Given the description of an element on the screen output the (x, y) to click on. 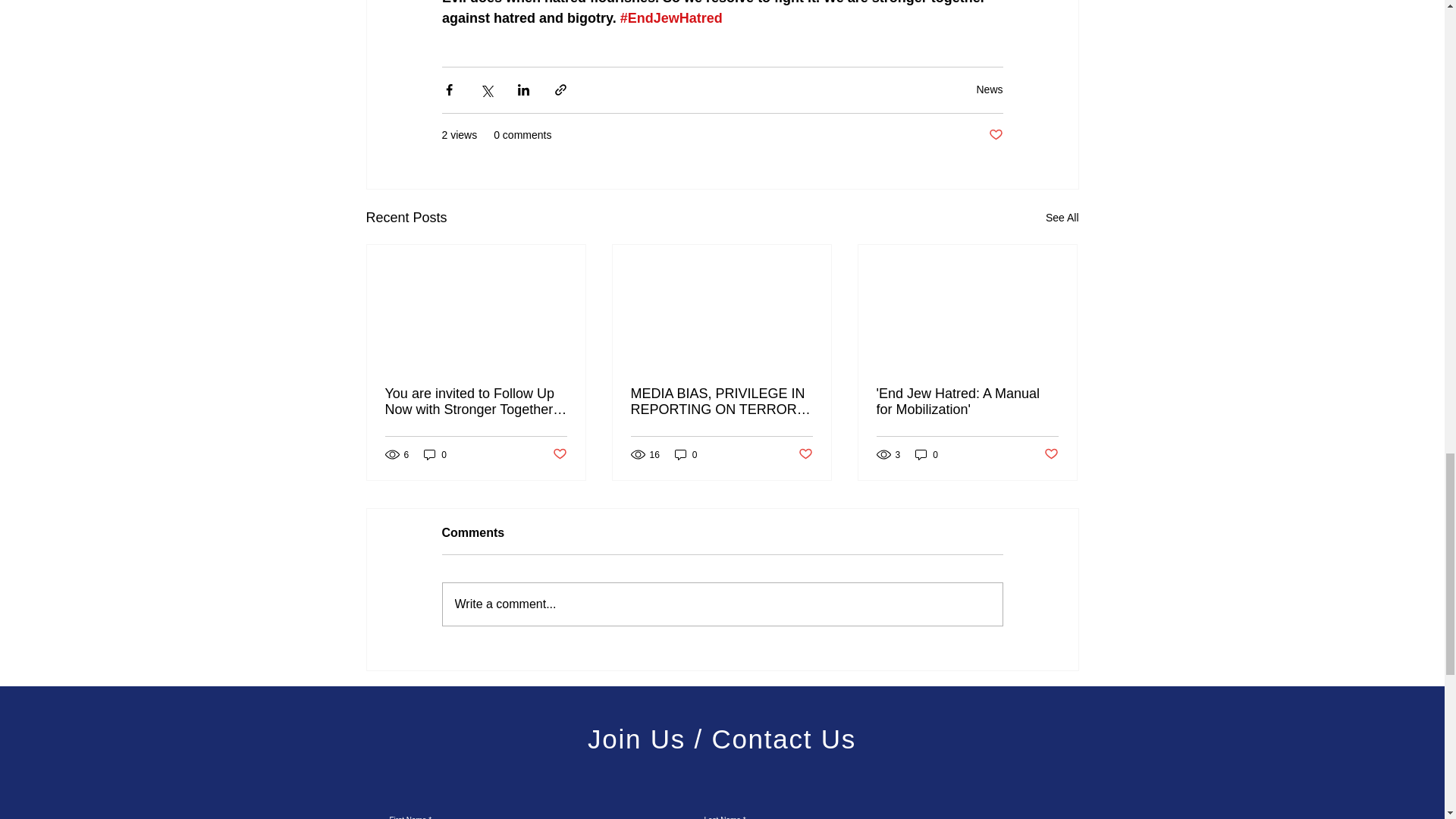
See All (1061, 218)
Post not marked as liked (995, 135)
News (989, 89)
